Given the description of an element on the screen output the (x, y) to click on. 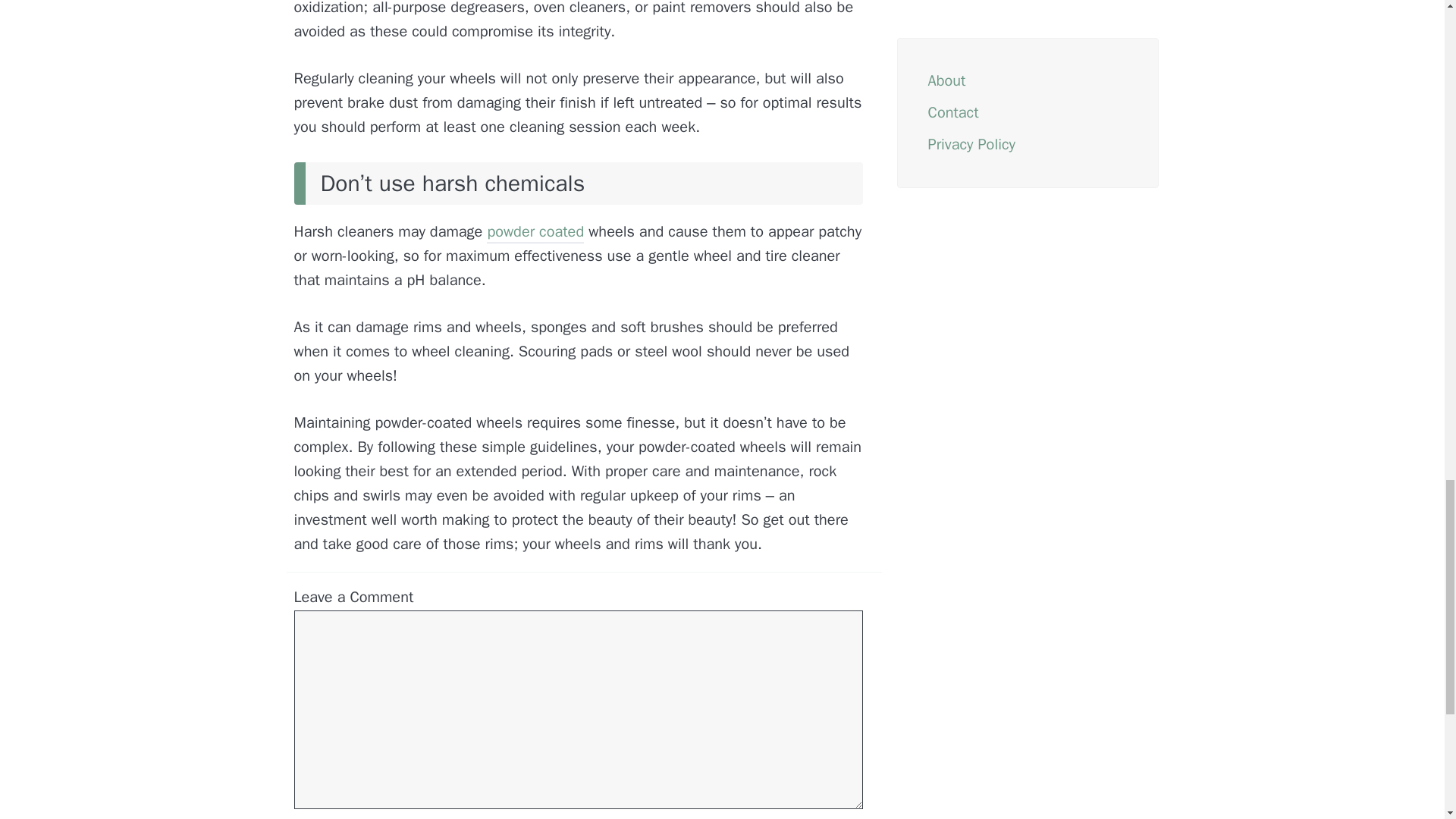
powder coated (534, 232)
